Given the description of an element on the screen output the (x, y) to click on. 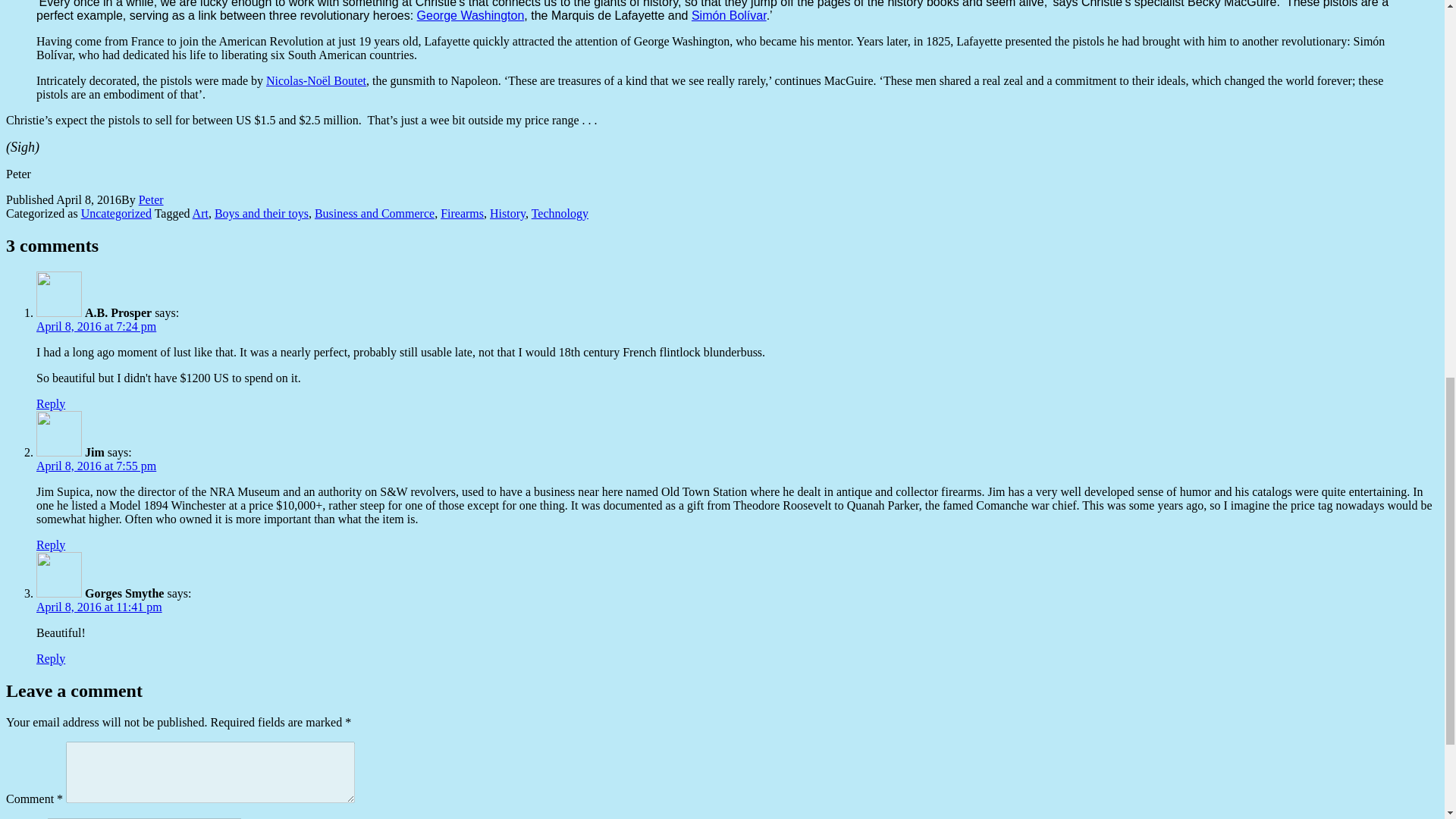
Reply (50, 658)
Boys and their toys (261, 213)
Reply (50, 403)
April 8, 2016 at 7:55 pm (95, 465)
April 8, 2016 at 11:41 pm (98, 606)
Technology (559, 213)
History (507, 213)
George Washington (470, 15)
Business and Commerce (373, 213)
Art (200, 213)
